Given the description of an element on the screen output the (x, y) to click on. 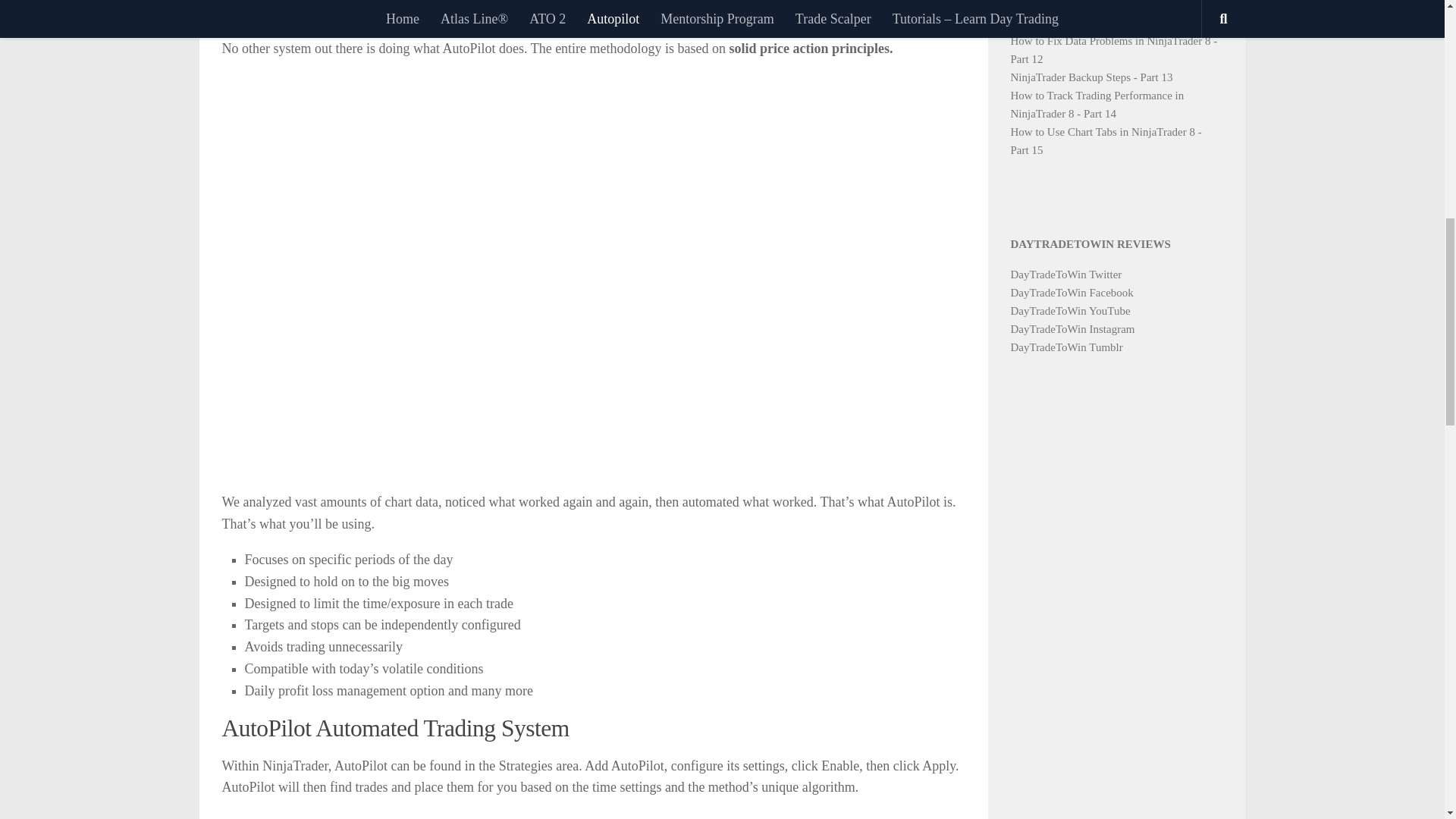
How to Fix Data Problems in NinjaTrader 8 - Part 12 (1113, 50)
How to Use Chart Tabs in NinjaTrader 8 - Part 15 (1105, 141)
How to Track Trading Performance in NinjaTrader 8 - Part 14 (1096, 104)
NinjaTrader Backup Steps - Part 13 (1091, 77)
How to Use NinjaTrader 8's Market Replay 8 - Part 11 (1113, 14)
